Given the description of an element on the screen output the (x, y) to click on. 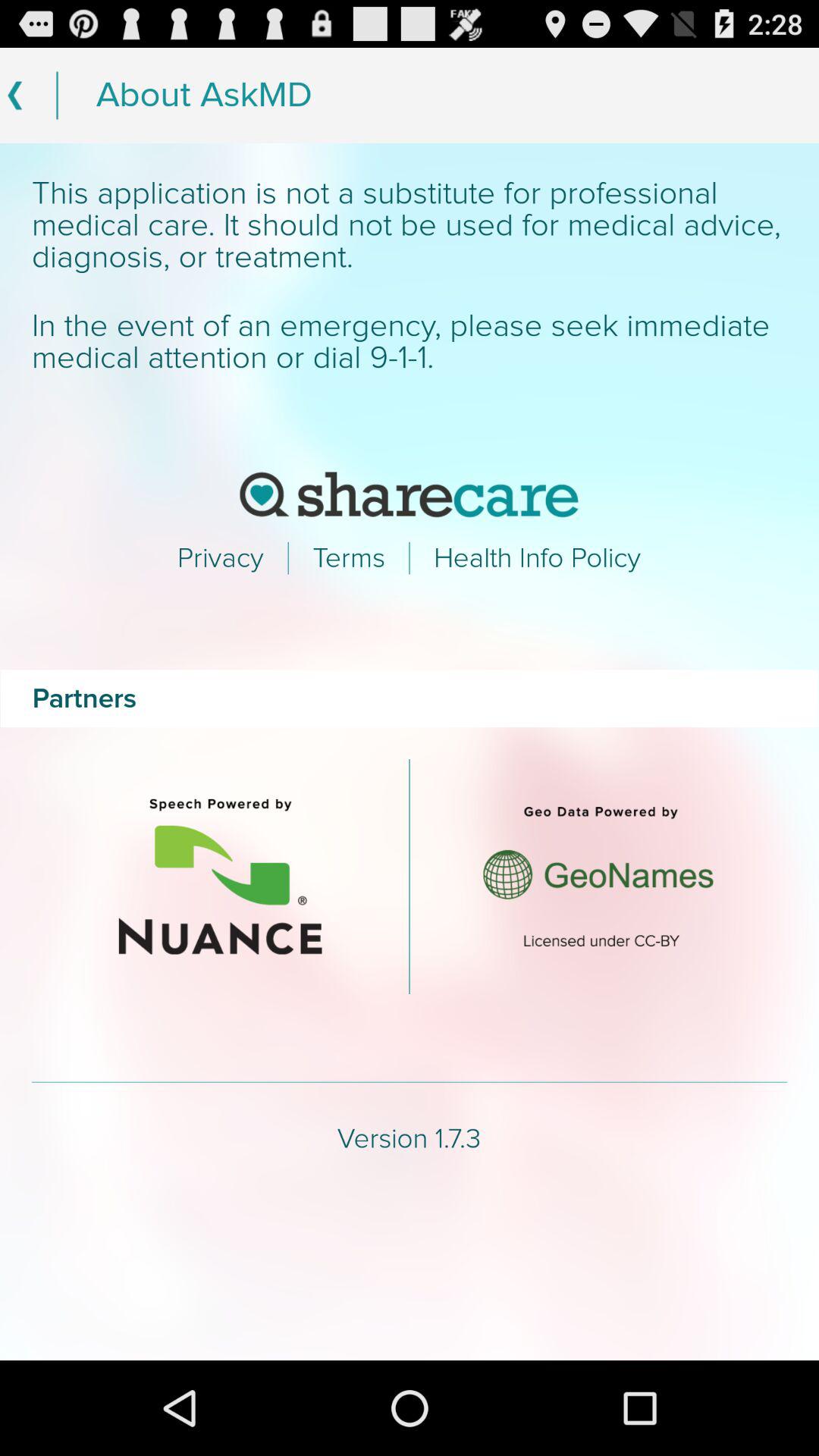
click on the word terms (348, 558)
select the text which says privacy (220, 558)
select a second option which is below partners (598, 876)
